Given the description of an element on the screen output the (x, y) to click on. 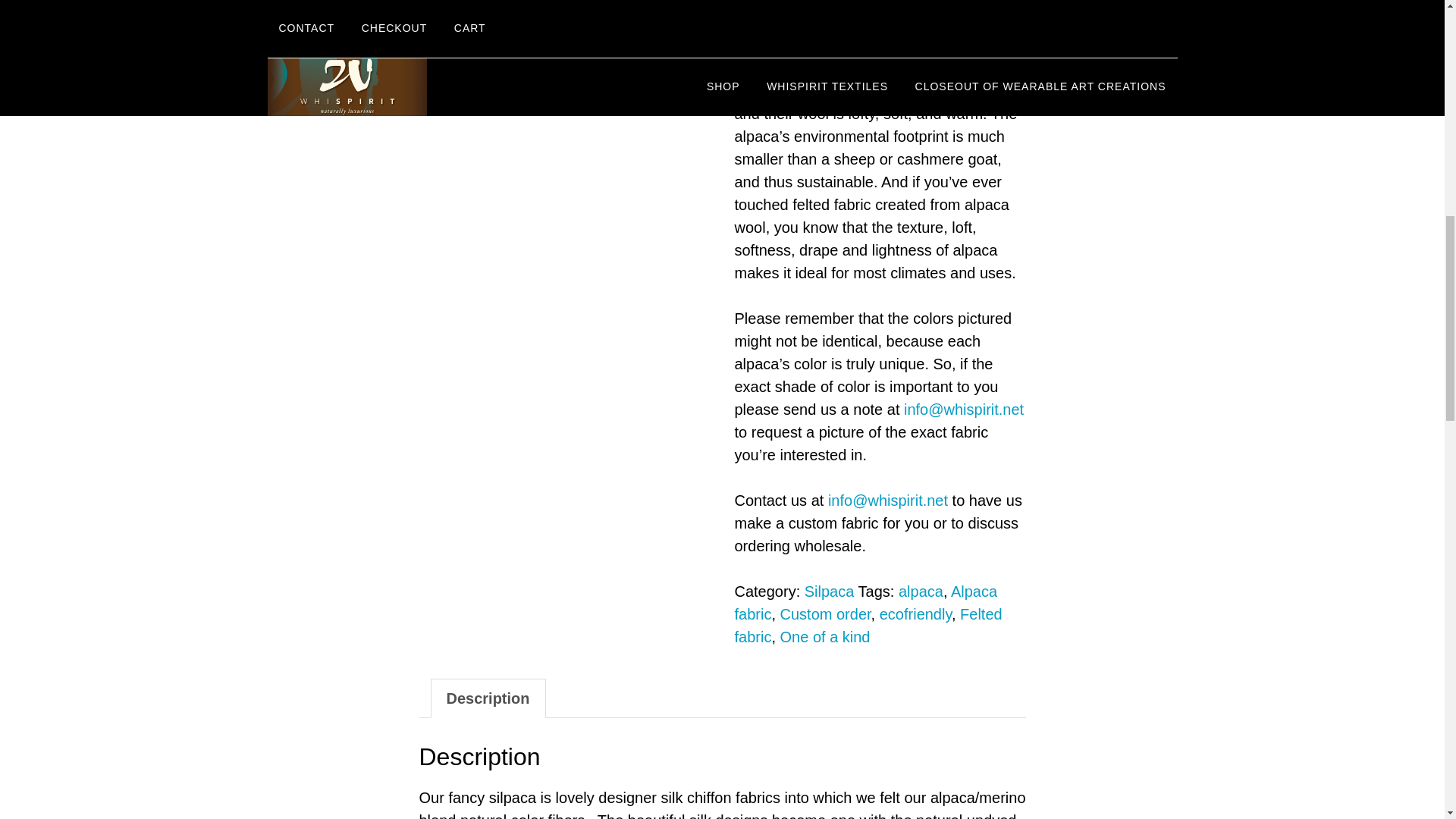
One of a kind (825, 636)
alpaca (920, 591)
Custom order (825, 614)
Description (487, 698)
ecofriendly (915, 614)
Alpaca fabric (865, 602)
Silpaca (829, 591)
Felted fabric (867, 625)
